Given the description of an element on the screen output the (x, y) to click on. 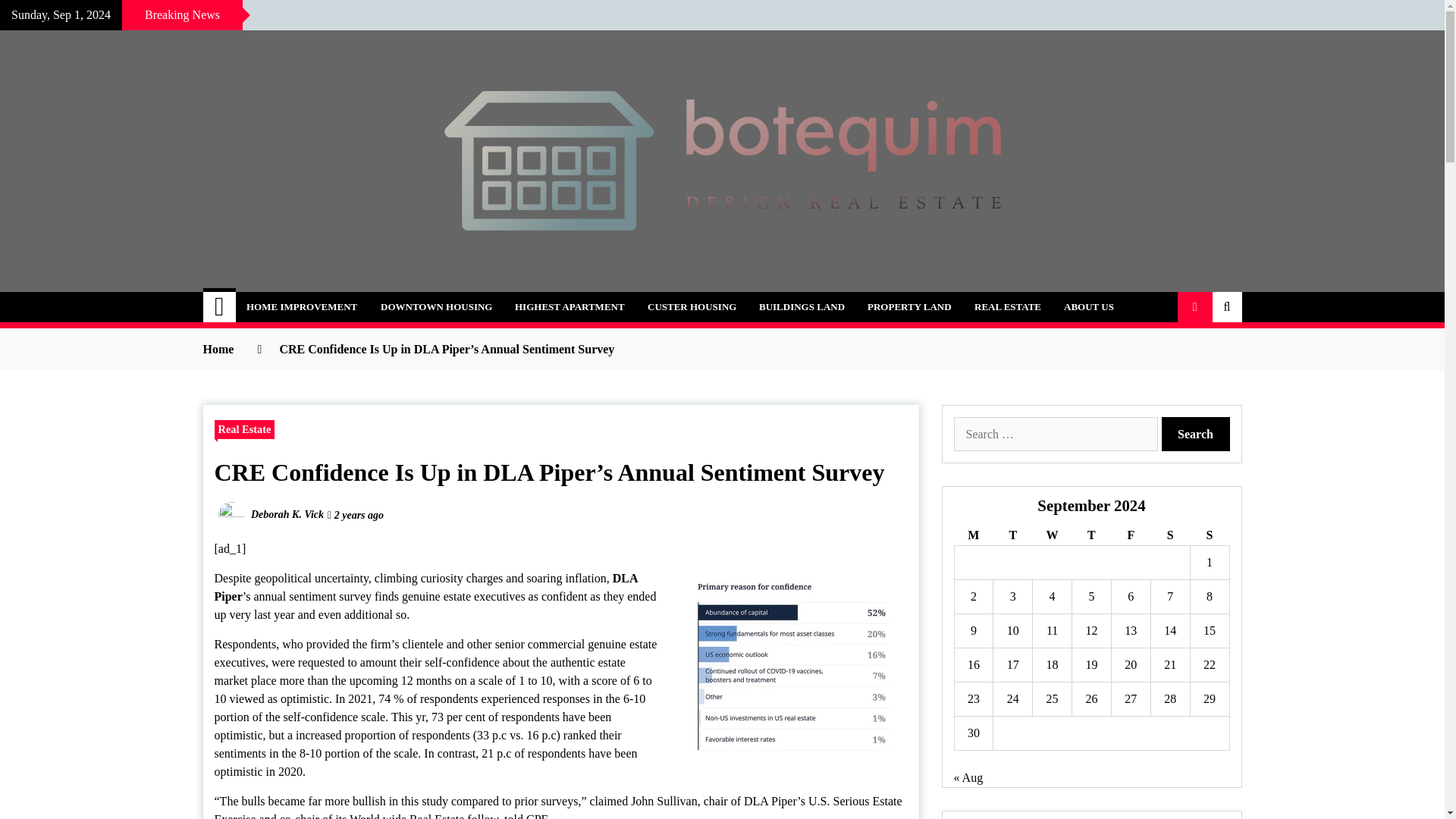
HIGHEST APARTMENT (569, 306)
Search (1195, 433)
ABOUT US (1088, 306)
PROPERTY LAND (909, 306)
HOME IMPROVEMENT (301, 306)
Tuesday (1012, 535)
Thursday (1091, 535)
Home (219, 306)
BUILDINGS LAND (802, 306)
Sunday (1208, 535)
